Given the description of an element on the screen output the (x, y) to click on. 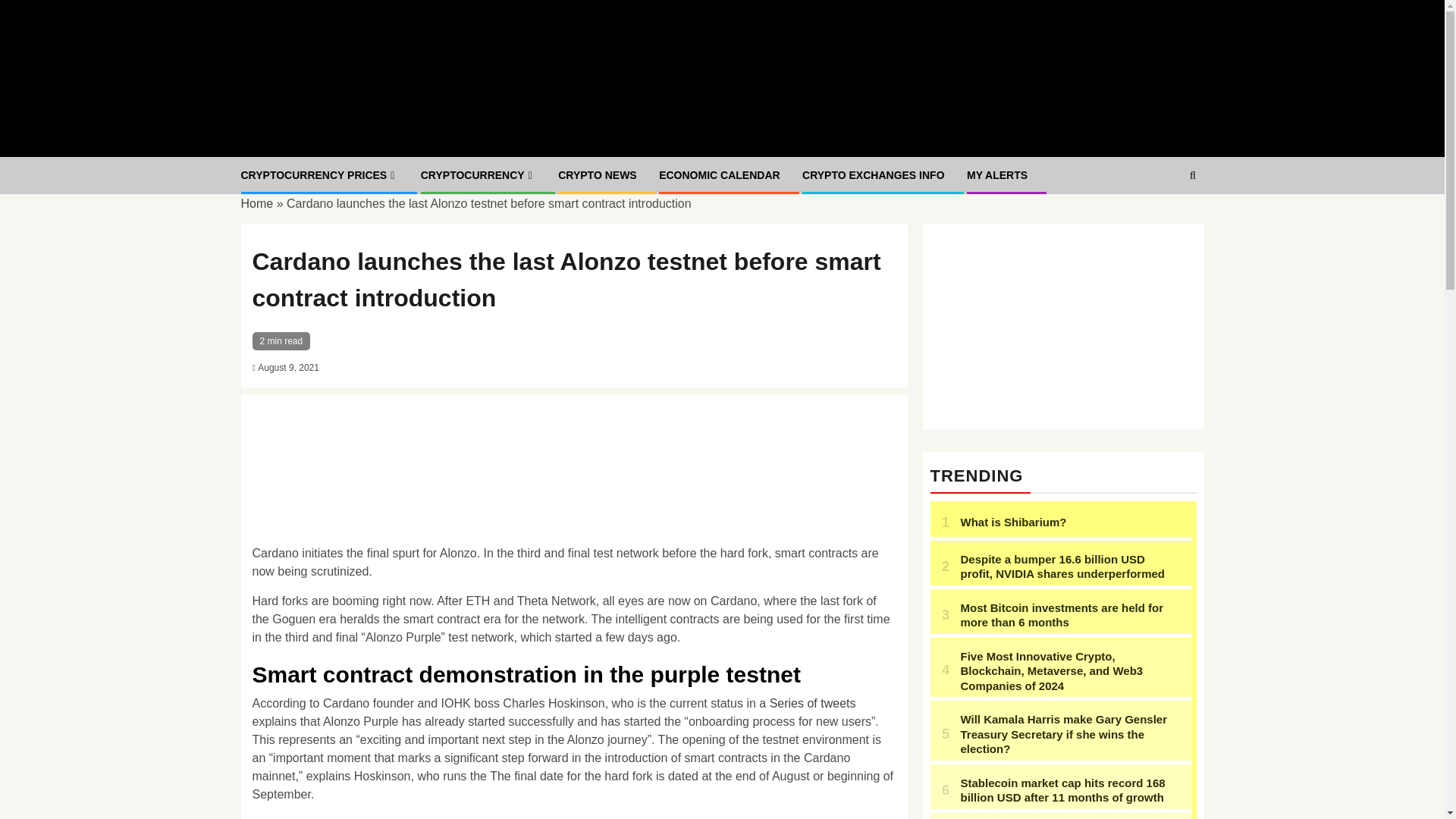
CRYPTOCURRENCY PRICES (319, 174)
CRYPTOCURRENCY (477, 174)
